Given the description of an element on the screen output the (x, y) to click on. 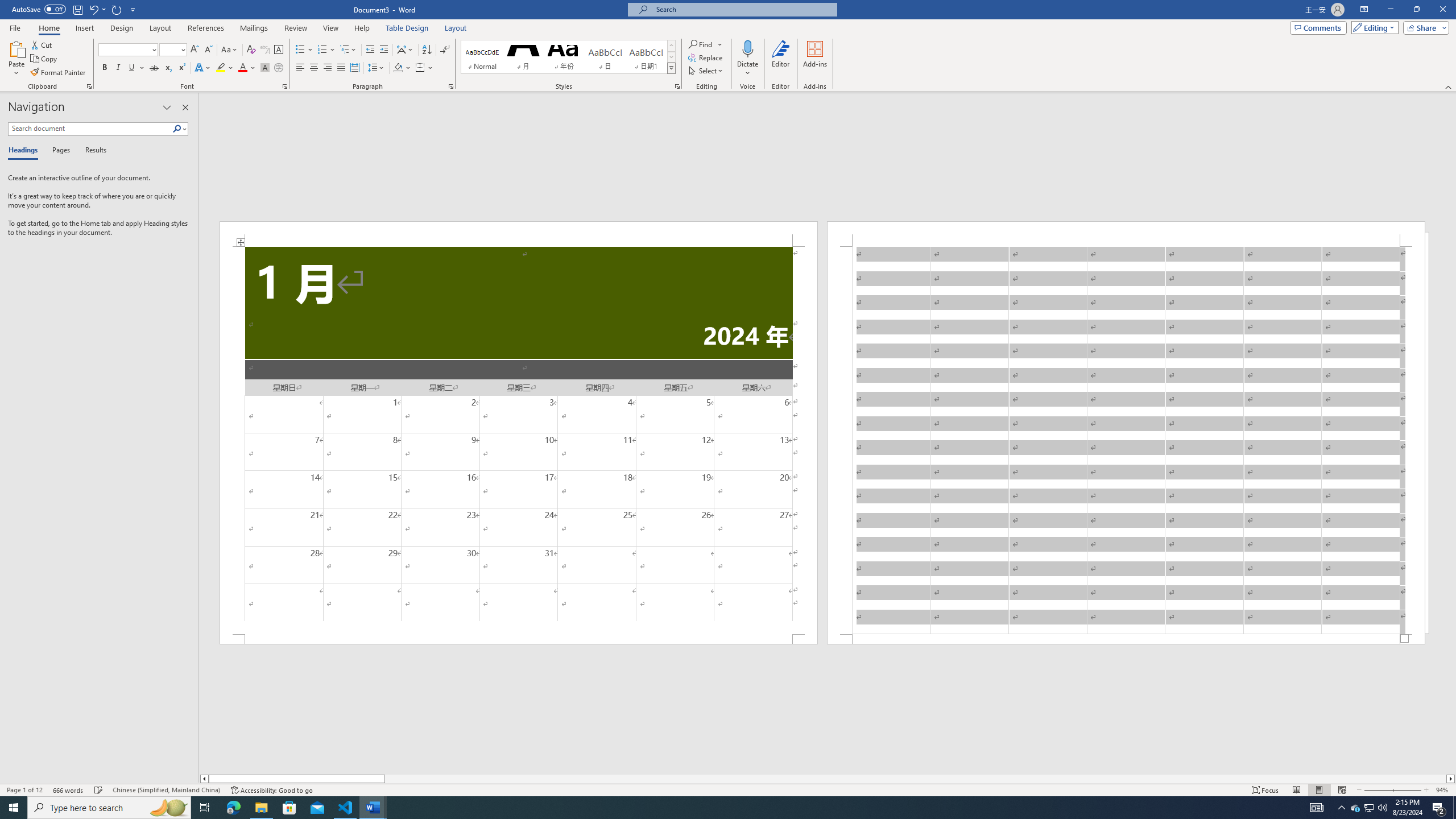
Layout (455, 28)
Text Effects and Typography (202, 67)
Quick Access Toolbar (74, 9)
Collapse the Ribbon (1448, 86)
Office Clipboard... (88, 85)
Page Number Page 1 of 12 (24, 790)
Font Color (246, 67)
Customize Quick Access Toolbar (133, 9)
